Given the description of an element on the screen output the (x, y) to click on. 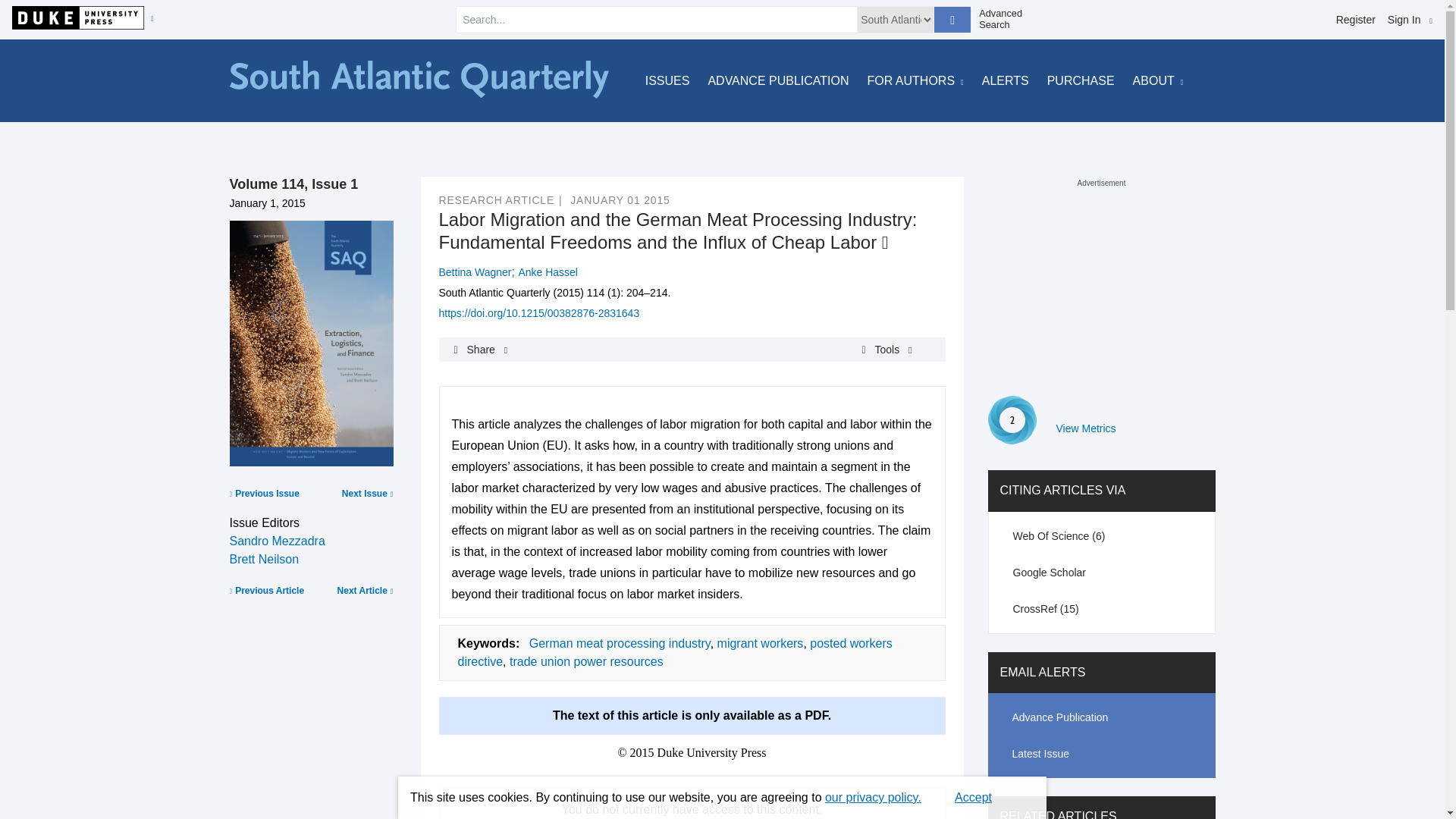
Register (1355, 19)
ADVANCE PUBLICATION (777, 80)
search input (657, 19)
3rd party ad content (1100, 284)
ALERTS (1005, 80)
FOR AUTHORS (915, 80)
Sign In (1409, 19)
ISSUES (667, 80)
Advanced Search (1005, 19)
